Given the description of an element on the screen output the (x, y) to click on. 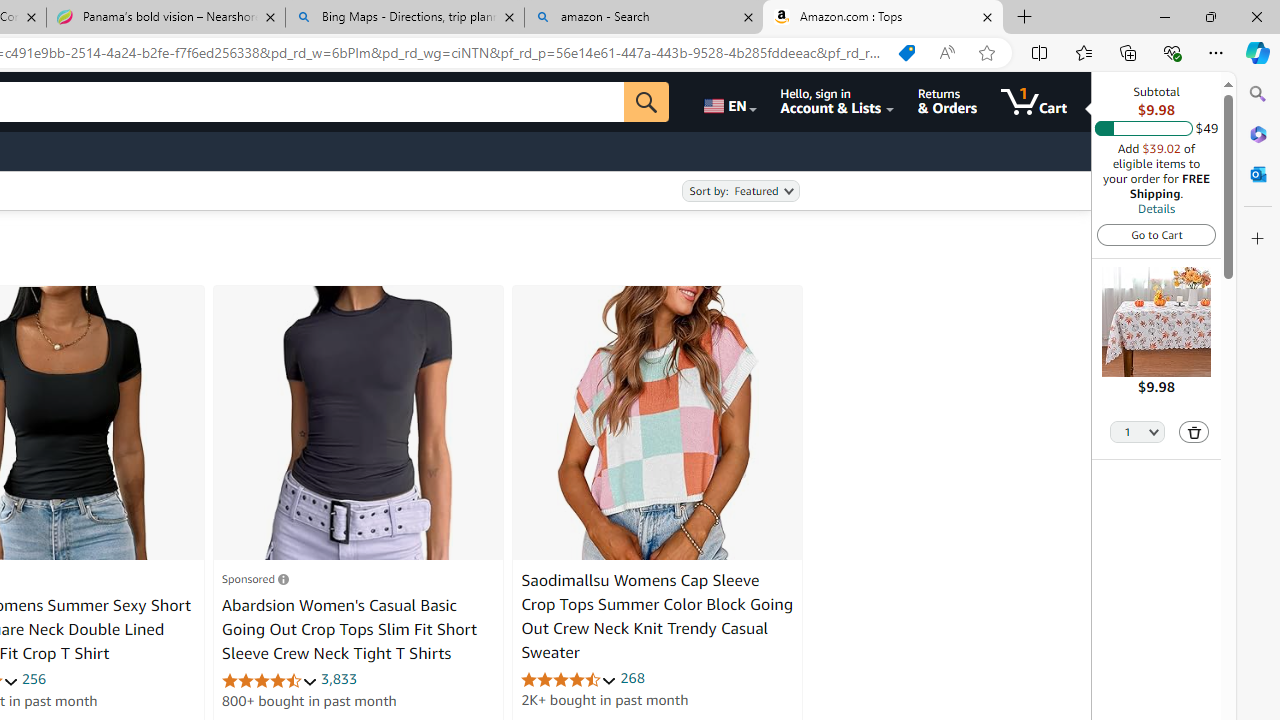
Choose a language for shopping. (728, 101)
Delete (1194, 431)
Amazon.com : Tops (883, 17)
View Sponsored information or leave ad feedback (255, 578)
256 (33, 678)
Hello, sign in Account & Lists (836, 101)
Go to Cart (1156, 234)
